Given the description of an element on the screen output the (x, y) to click on. 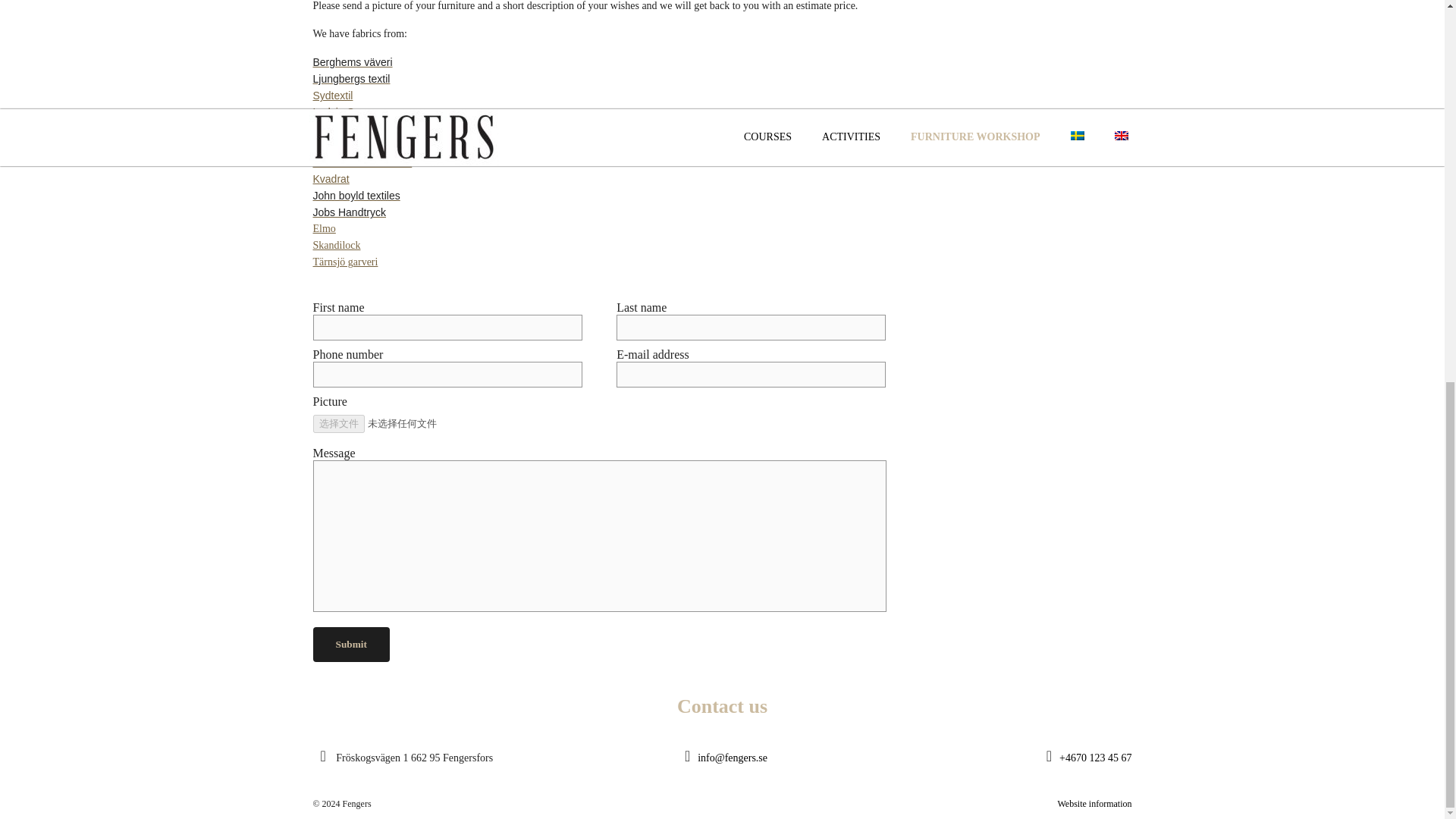
Ludvig Svensson (353, 111)
Skicka epost (732, 757)
Kvadrat (331, 178)
Elmo (323, 228)
Ljungbergs textil (351, 79)
Submit (350, 644)
Sydtextil (332, 95)
Lauritzon (334, 128)
Skandilock (336, 244)
John boyld textiles (355, 195)
Website information (1094, 803)
Submit (350, 644)
Jobs Handtryck (349, 212)
